Given the description of an element on the screen output the (x, y) to click on. 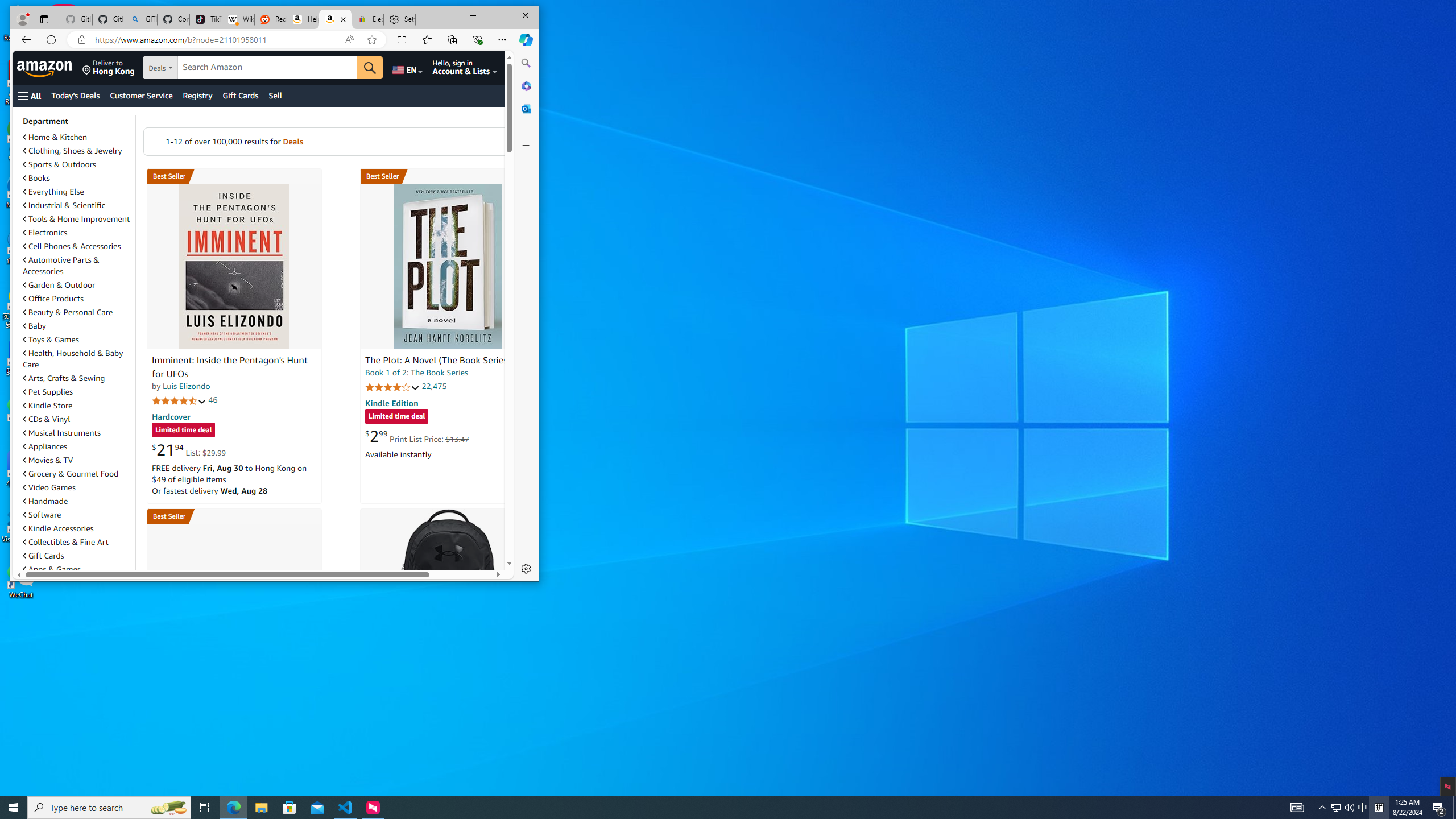
Clothing, Shoes & Jewelry (72, 150)
Handmade (77, 500)
Search in (199, 68)
Pet Supplies (77, 391)
Garden & Outdoor (59, 284)
22,475 (433, 386)
Kindle Store (47, 405)
Maximize (499, 15)
Home & Kitchen (55, 136)
Beauty & Personal Care (77, 311)
Automotive Parts & Accessories (77, 264)
Appliances (77, 446)
Books (36, 177)
